Given the description of an element on the screen output the (x, y) to click on. 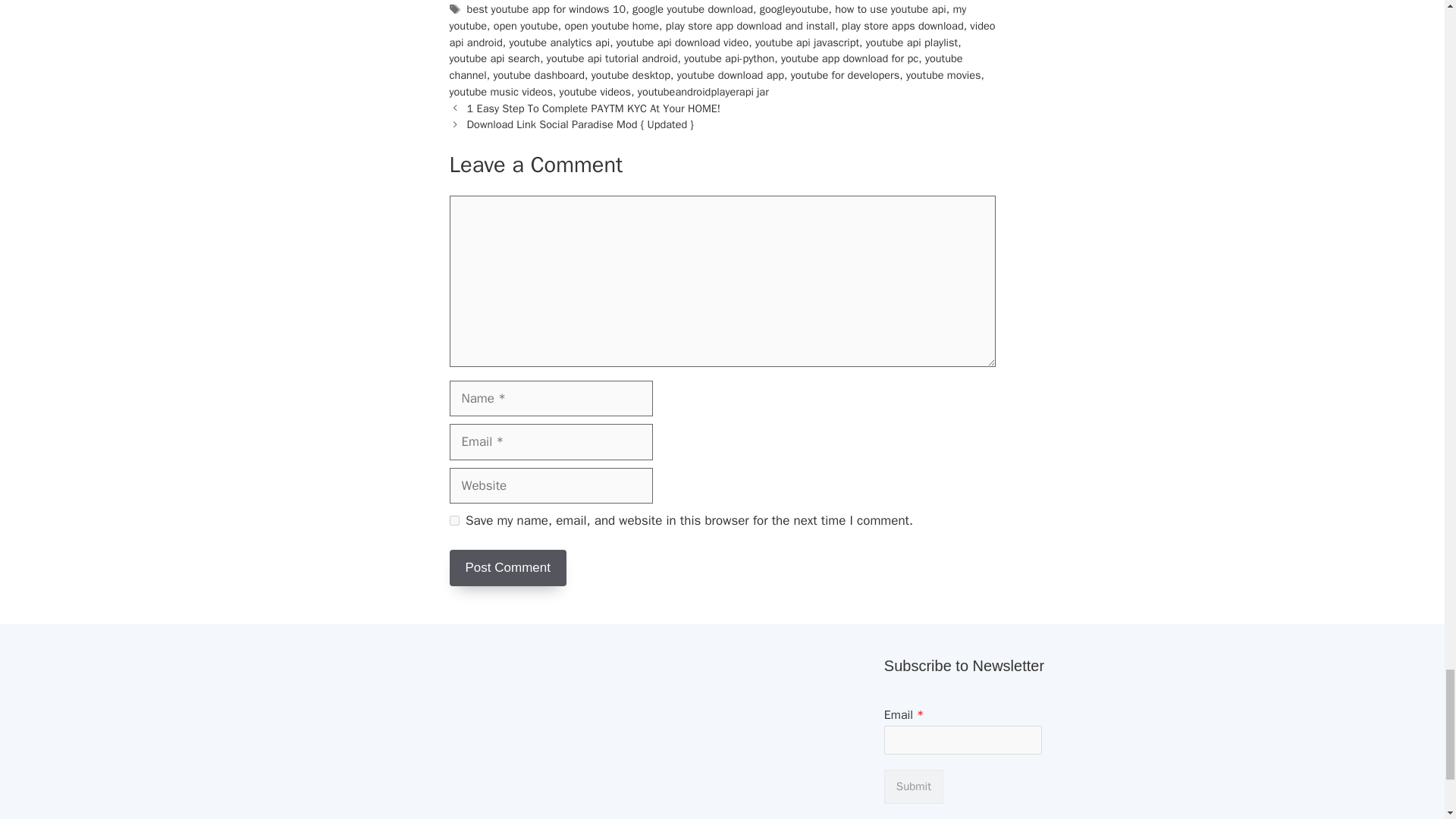
my youtube (707, 17)
youtube api tutorial android (612, 58)
youtube api playlist (912, 42)
googleyoutube (794, 8)
google youtube download (691, 8)
best youtube app for windows 10 (546, 8)
play store app download and install (749, 25)
youtube api search (494, 58)
youtube analytics api (559, 42)
Previous (593, 108)
play store apps download (902, 25)
Next (580, 124)
video api android (721, 33)
Post Comment (507, 567)
how to use youtube api (889, 8)
